Given the description of an element on the screen output the (x, y) to click on. 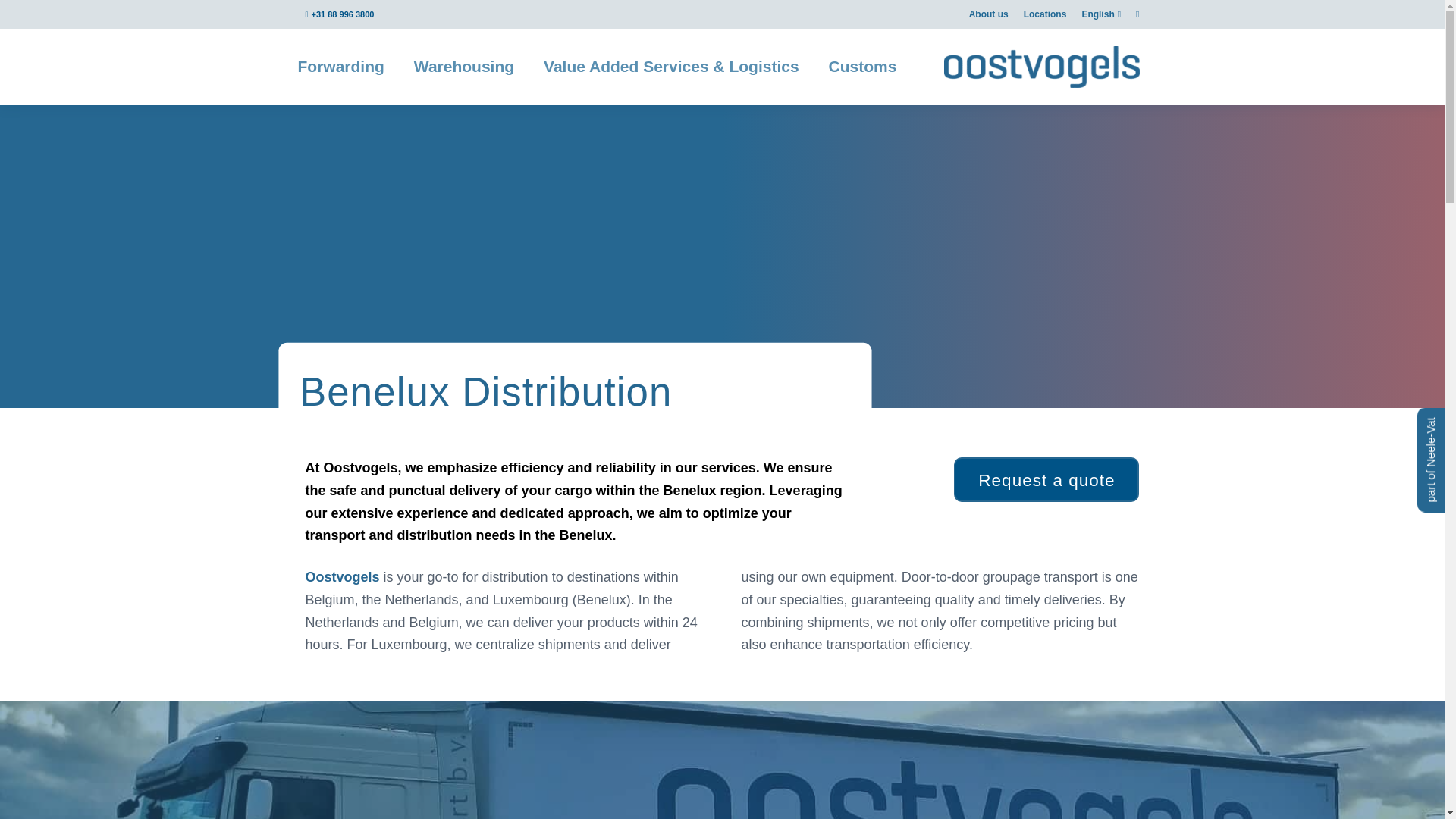
English (1101, 14)
Customs (863, 66)
Warehousing (464, 66)
Forwarding (340, 66)
Request a quote (1045, 479)
About us (989, 14)
Locations (1045, 14)
